Given the description of an element on the screen output the (x, y) to click on. 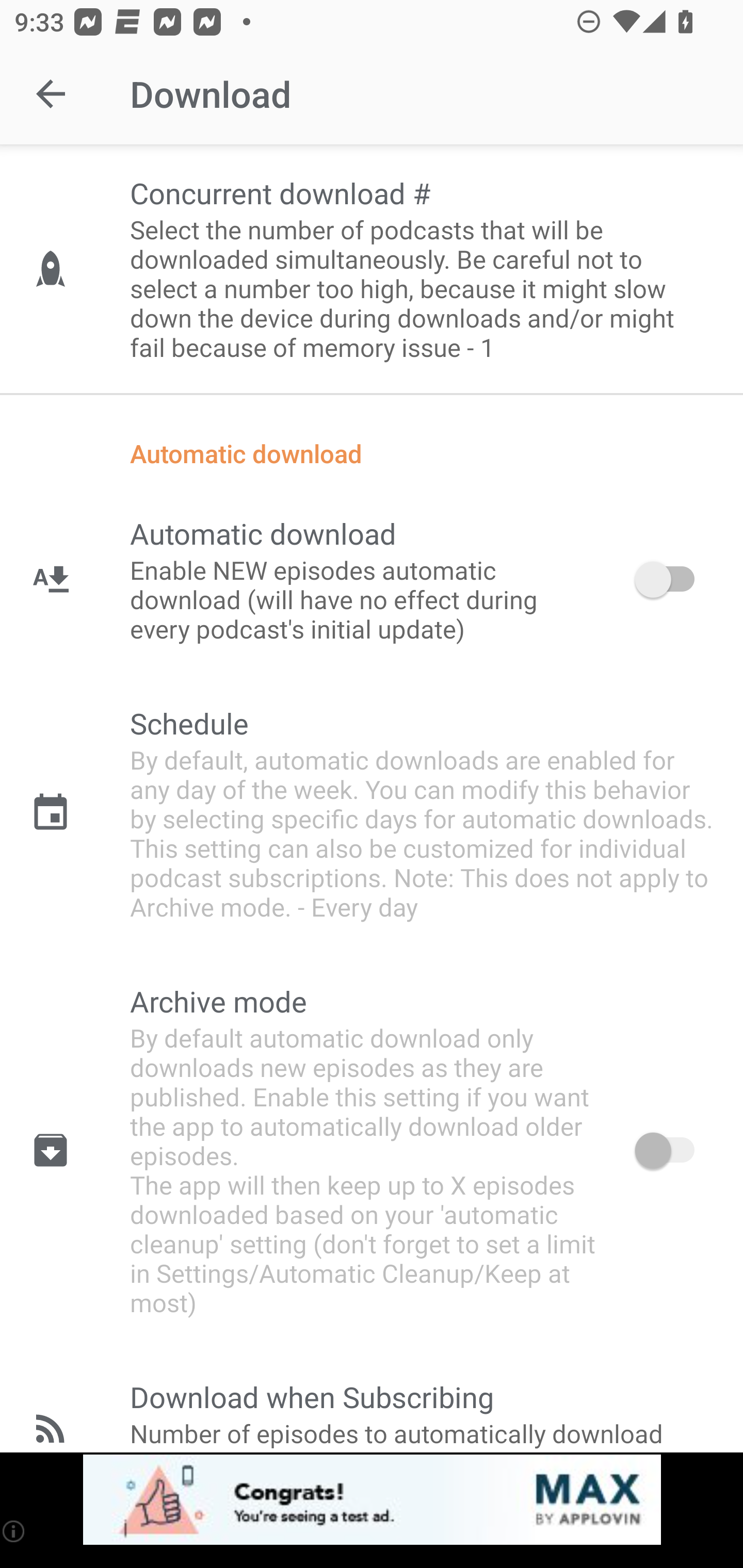
Navigate up (50, 93)
app-monetization (371, 1500)
(i) (14, 1531)
